Given the description of an element on the screen output the (x, y) to click on. 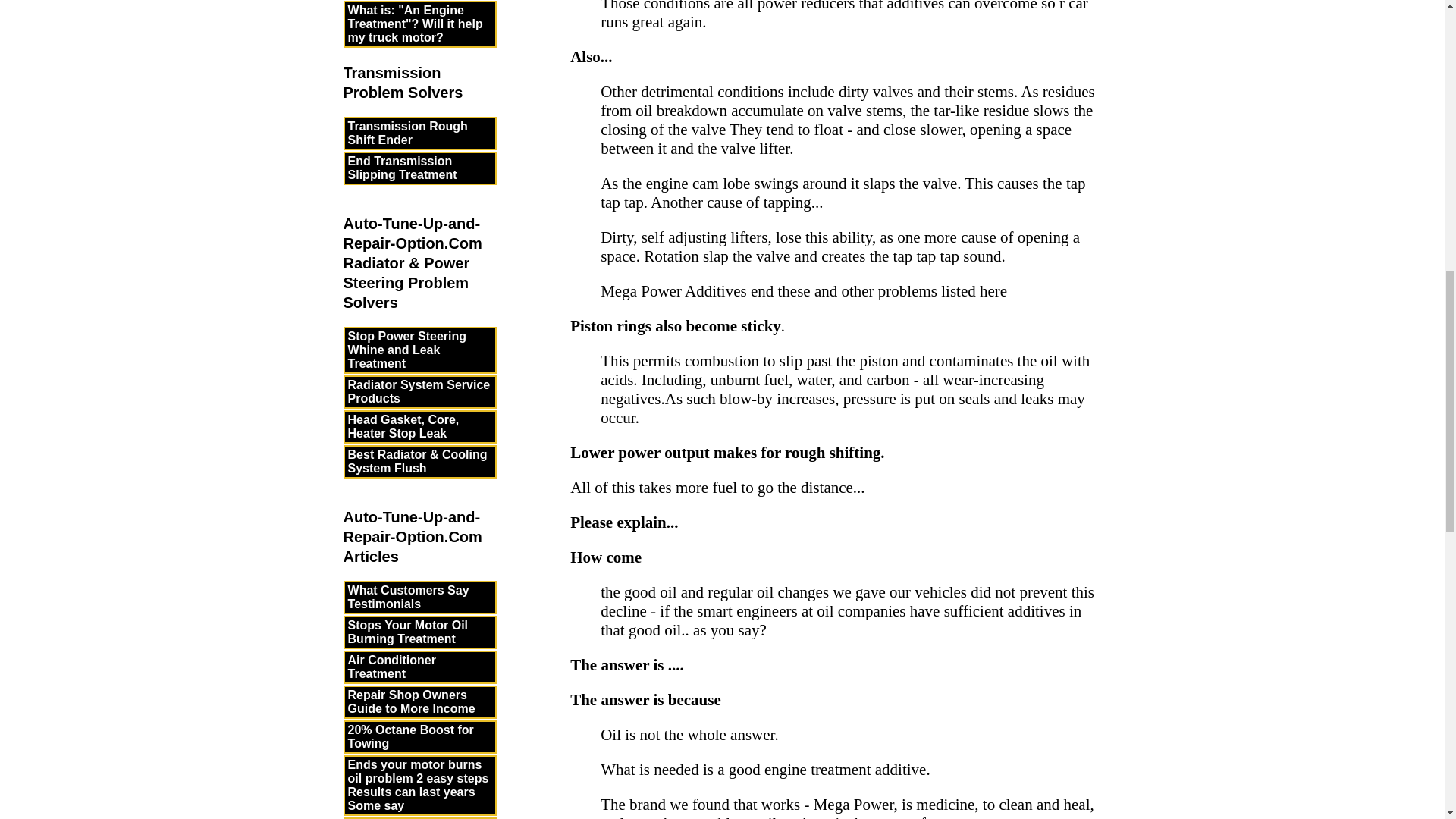
End Transmission Slipping Treatment (419, 168)
Head Gasket, Core, Heater Stop Leak (419, 426)
Repair Shop Owners Guide to More Income (419, 702)
Radiator System Service Products (419, 391)
Stop Power Steering Whine and Leak Treatment (419, 349)
What is: "An Engine Treatment"? Will it help my truck motor? (419, 23)
What Customers Say Testimonials (419, 597)
Transmission Rough Shift Ender (419, 133)
Stops Your Motor Oil Burning Treatment (419, 632)
Air Conditioner Treatment (419, 666)
